Given the description of an element on the screen output the (x, y) to click on. 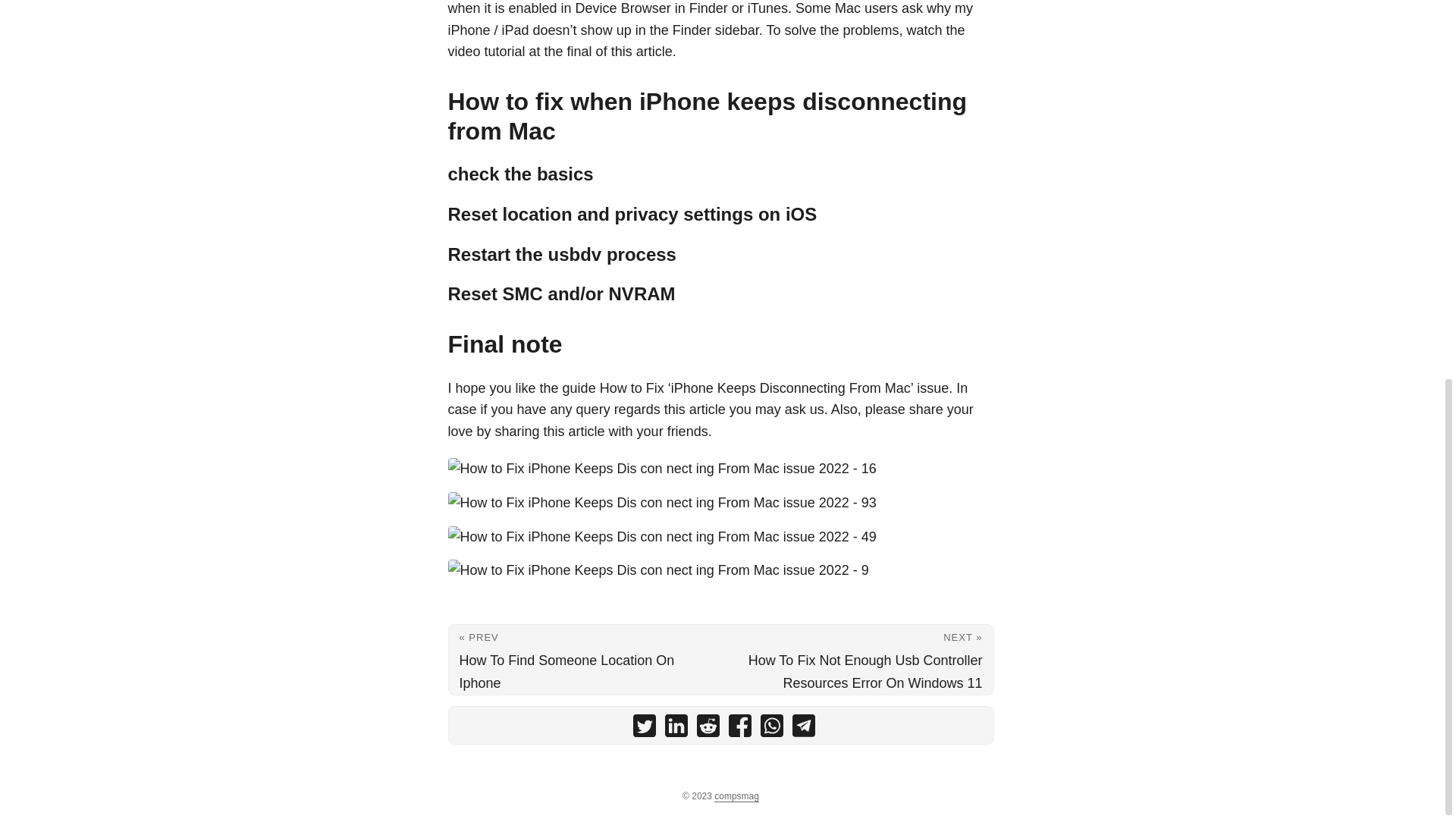
compsmag (736, 796)
